Given the description of an element on the screen output the (x, y) to click on. 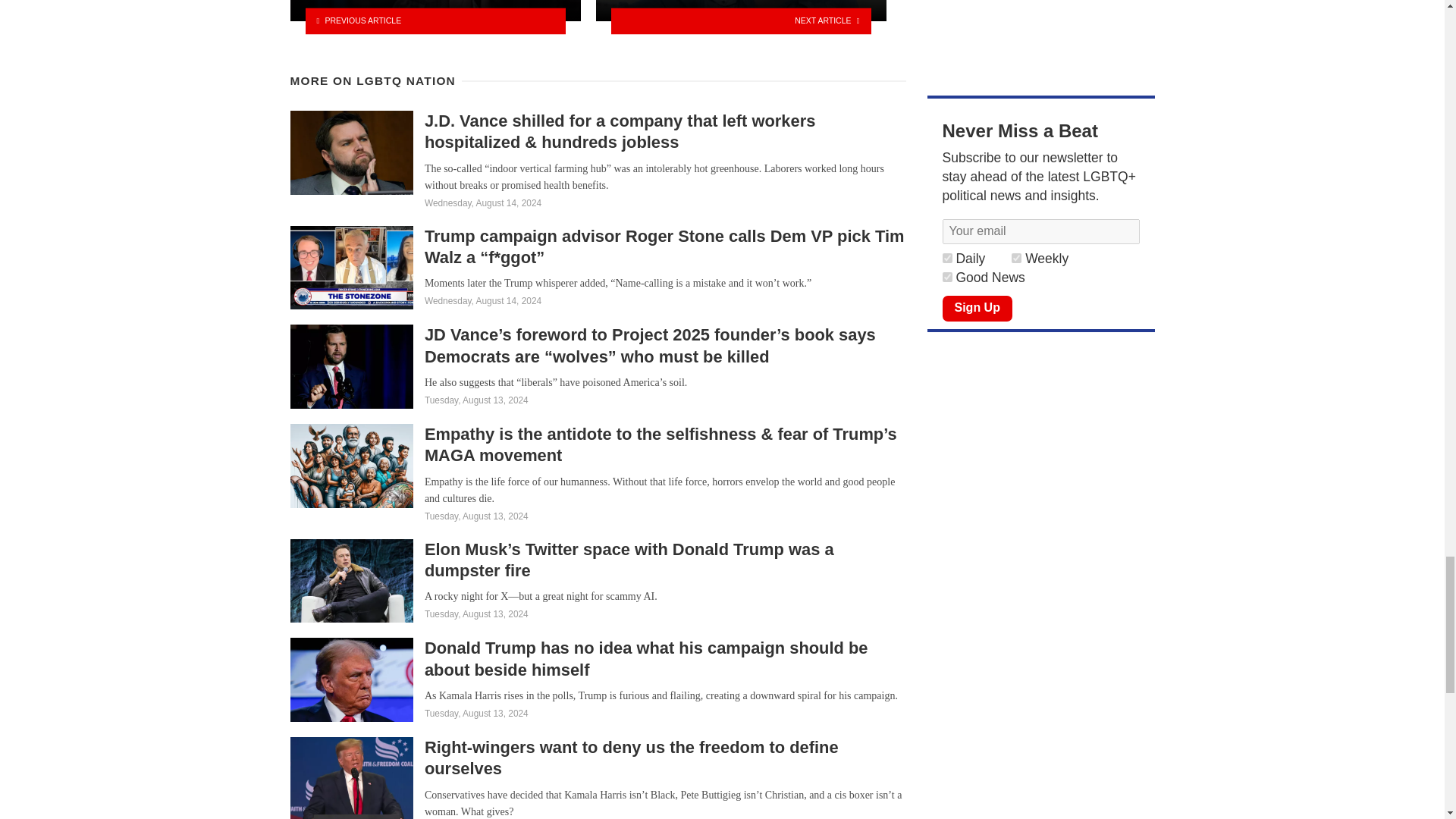
1920884 (1016, 257)
1920883 (947, 276)
Sign Up (976, 308)
1920885 (947, 257)
